Given the description of an element on the screen output the (x, y) to click on. 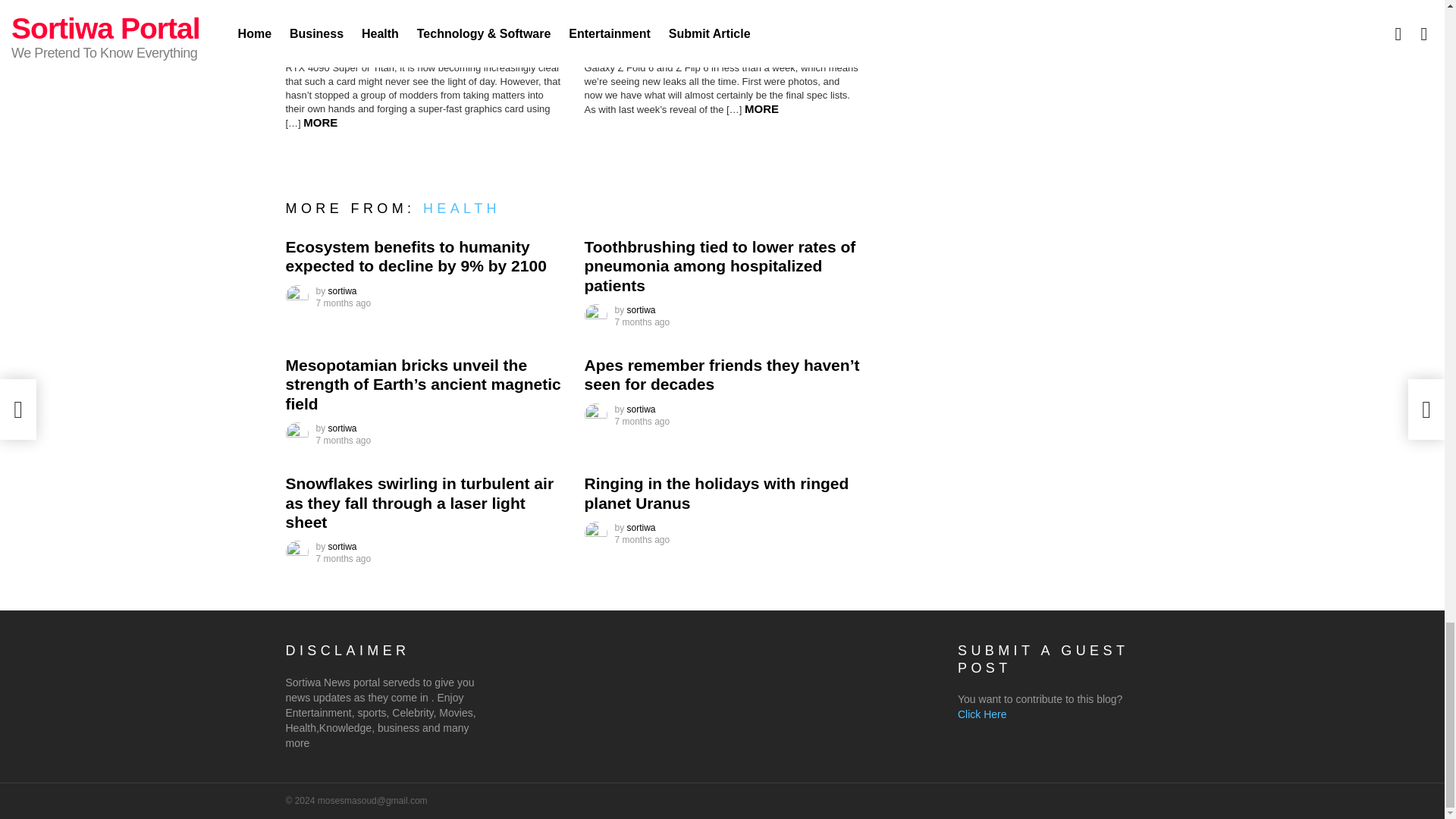
Posts by sortiwa (342, 290)
Posts by sortiwa (342, 546)
Posts by sortiwa (641, 409)
December 20, 2023, 6:57 am (641, 322)
December 20, 2023, 2:52 am (641, 539)
December 20, 2023, 7:57 am (343, 303)
Posts by sortiwa (342, 428)
December 20, 2023, 5:56 am (343, 440)
December 20, 2023, 3:53 am (343, 558)
Posts by sortiwa (641, 527)
December 20, 2023, 4:54 am (641, 421)
Posts by sortiwa (641, 309)
